Given the description of an element on the screen output the (x, y) to click on. 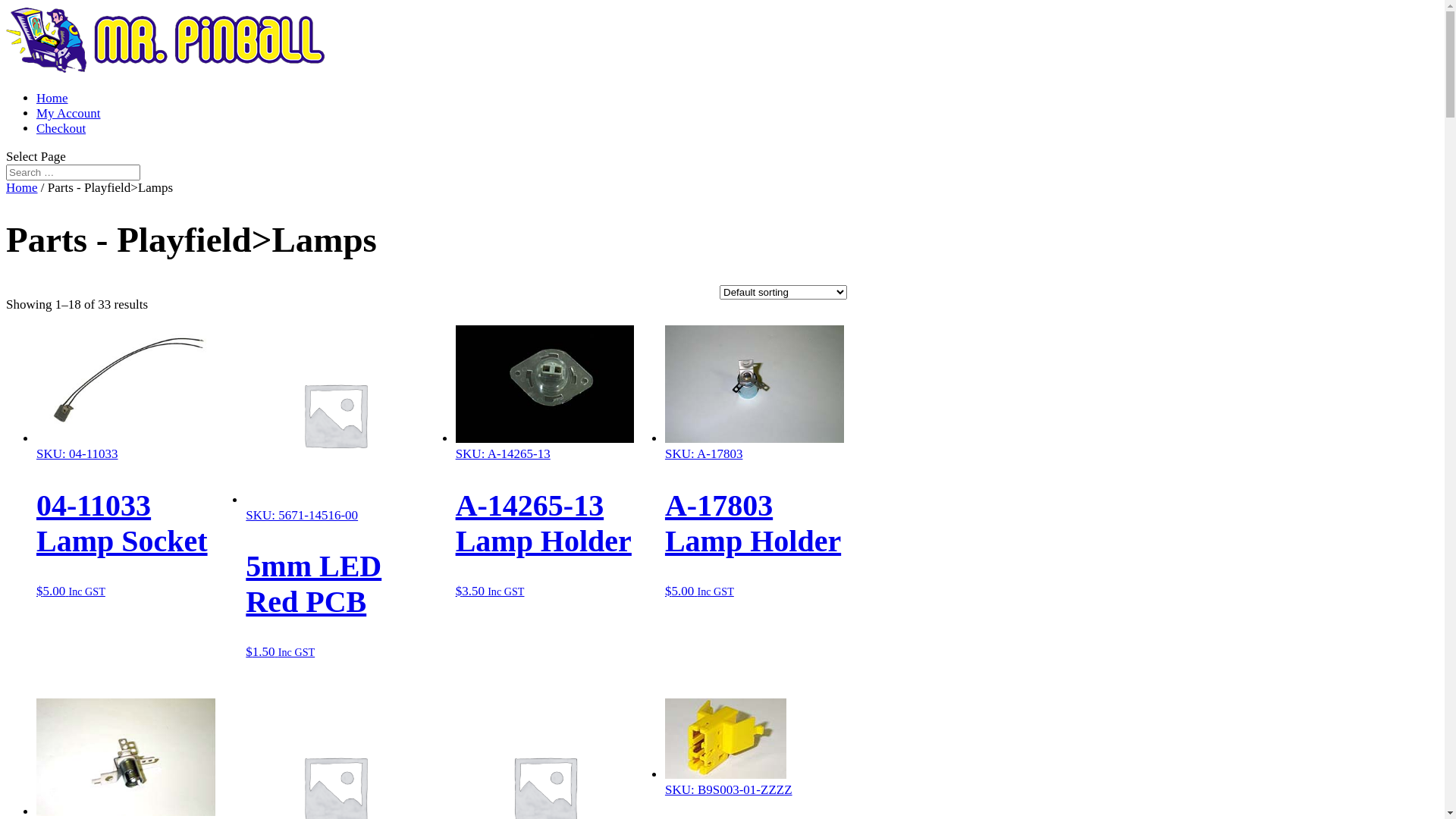
Checkout Element type: text (60, 128)
Home Element type: text (52, 98)
Home Element type: text (21, 187)
My Account Element type: text (68, 113)
SKU: A-14265-13
A-14265-13 Lamp Holder
$3.50 Inc GST Element type: text (544, 514)
SKU: 04-11033
04-11033 Lamp Socket
$5.00 Inc GST Element type: text (125, 514)
Search for: Element type: hover (73, 172)
SKU: A-17803
A-17803 Lamp Holder
$5.00 Inc GST Element type: text (754, 514)
SKU: 5671-14516-00
5mm LED Red PCB
$1.50 Inc GST Element type: text (334, 575)
